Given the description of an element on the screen output the (x, y) to click on. 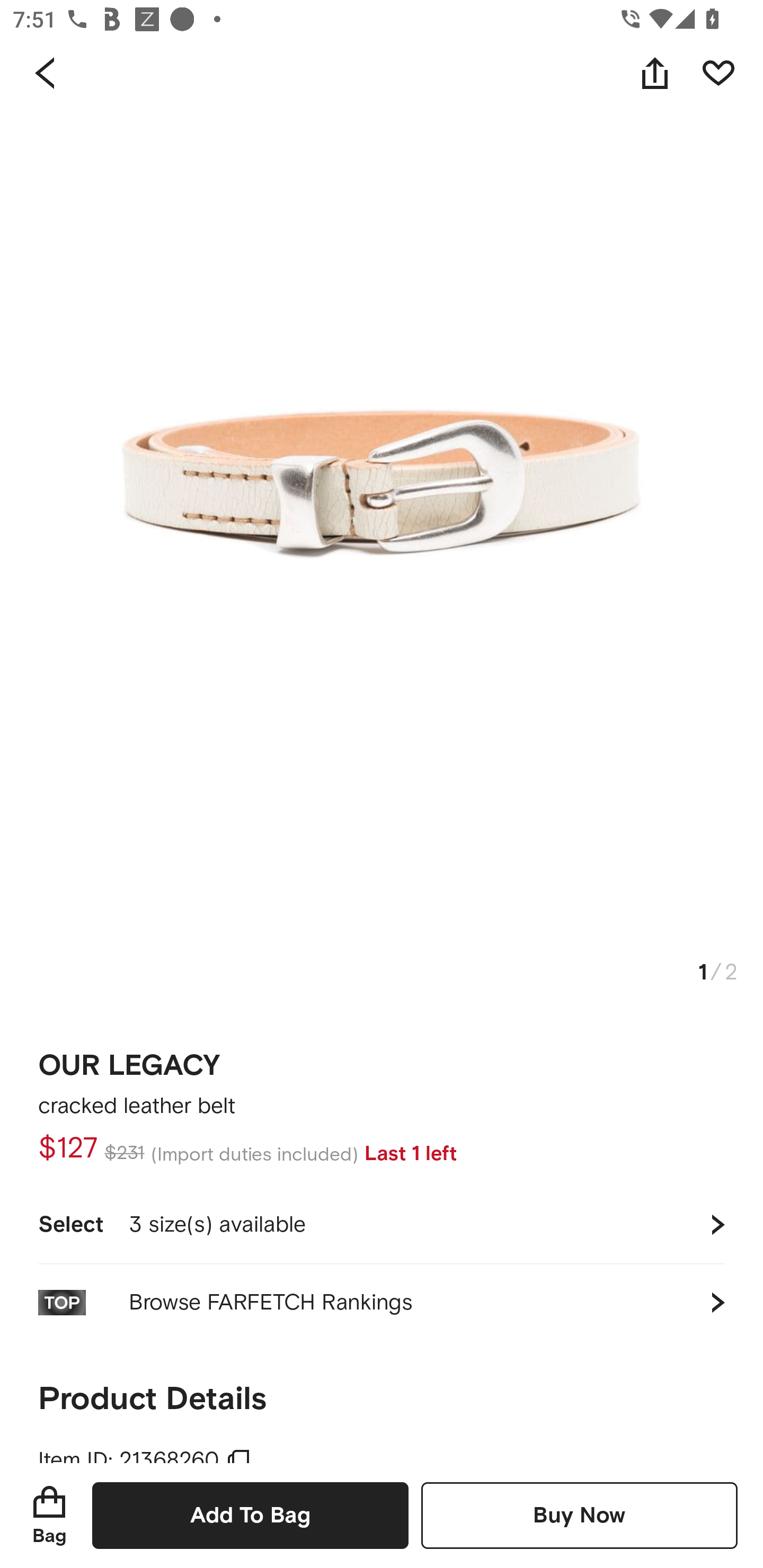
OUR LEGACY (129, 1059)
Select 3 size(s) available (381, 1224)
Browse FARFETCH Rankings (381, 1301)
Bag (49, 1515)
Add To Bag (250, 1515)
Buy Now (579, 1515)
